Given the description of an element on the screen output the (x, y) to click on. 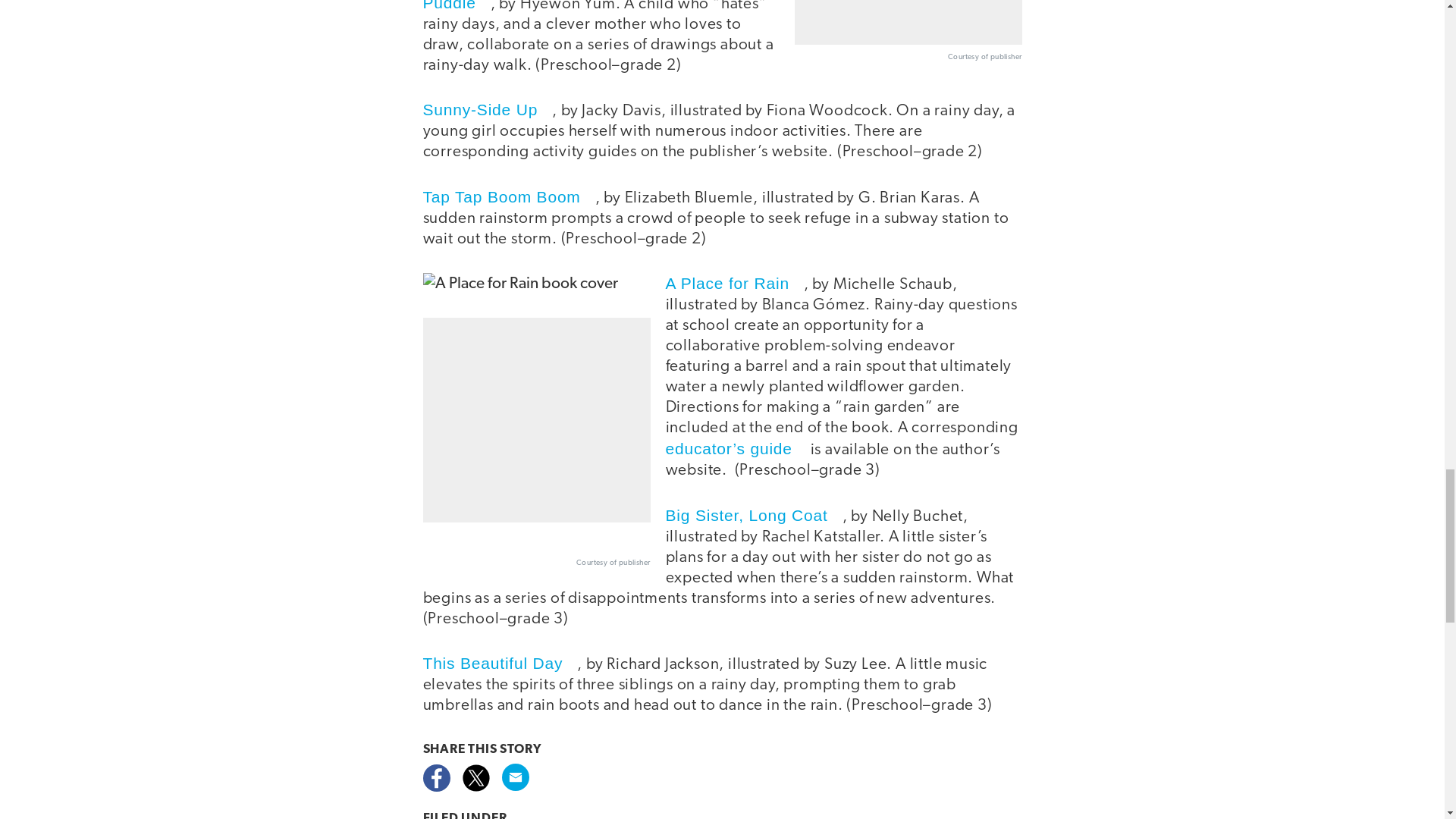
Sunny-Side Up (488, 108)
A Place for Rain (734, 282)
Tap Tap Boom Boom (509, 196)
Puddle (456, 5)
Big Sister, Long Coat (754, 515)
This Beautiful Day (500, 662)
